Given the description of an element on the screen output the (x, y) to click on. 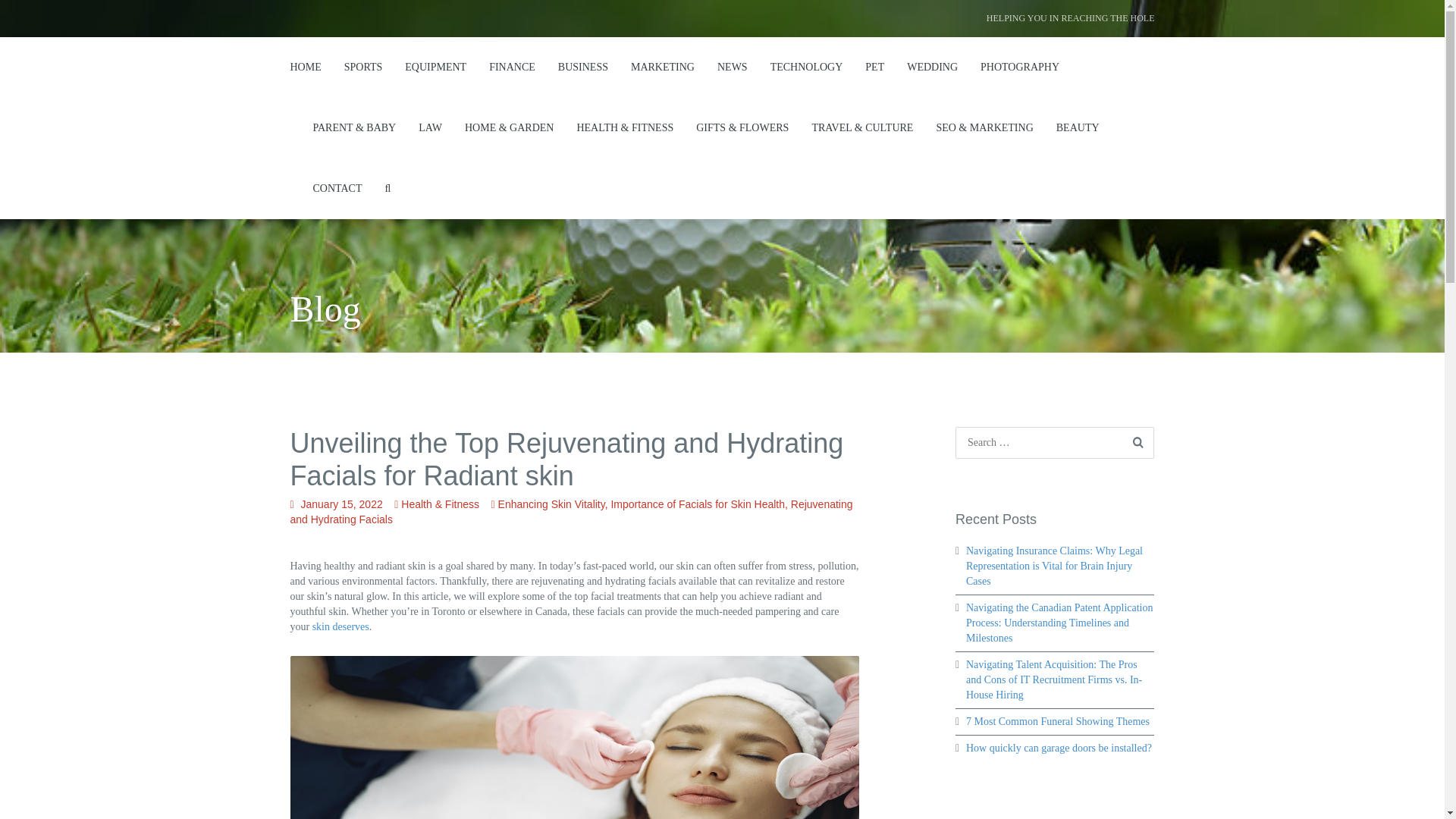
Rejuvenating and Hydrating Facials (570, 511)
PHOTOGRAPHY (1019, 66)
Enhancing Skin Vitality (551, 503)
Search (37, 15)
7 Most Common Funeral Showing Themes (1058, 721)
How quickly can garage doors be installed? (1058, 747)
MARKETING (662, 66)
TECHNOLOGY (806, 66)
Importance of Facials for Skin Health (697, 503)
skin deserves (341, 626)
EQUIPMENT (434, 66)
